Given the description of an element on the screen output the (x, y) to click on. 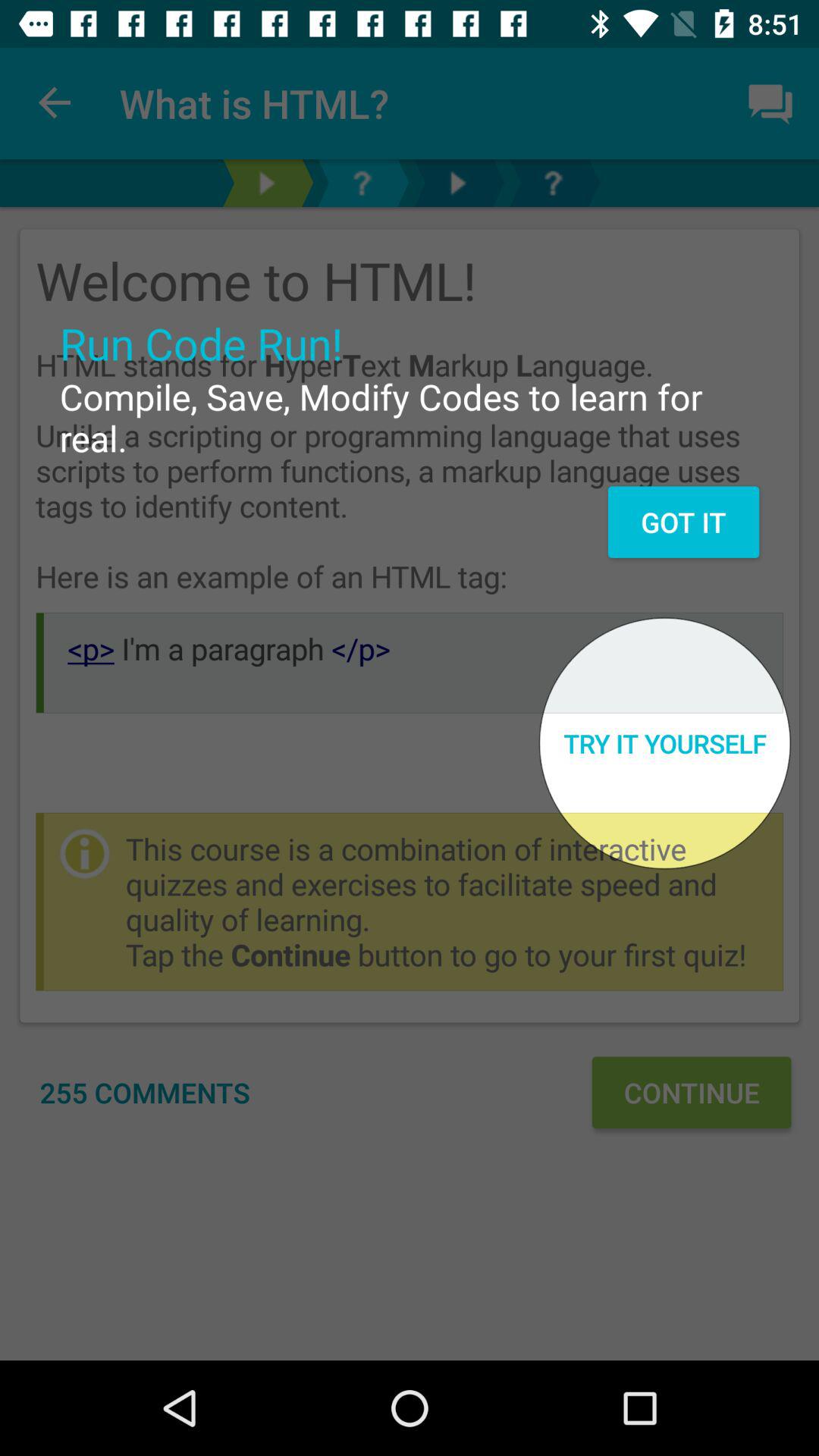
go to the this step (457, 183)
